Given the description of an element on the screen output the (x, y) to click on. 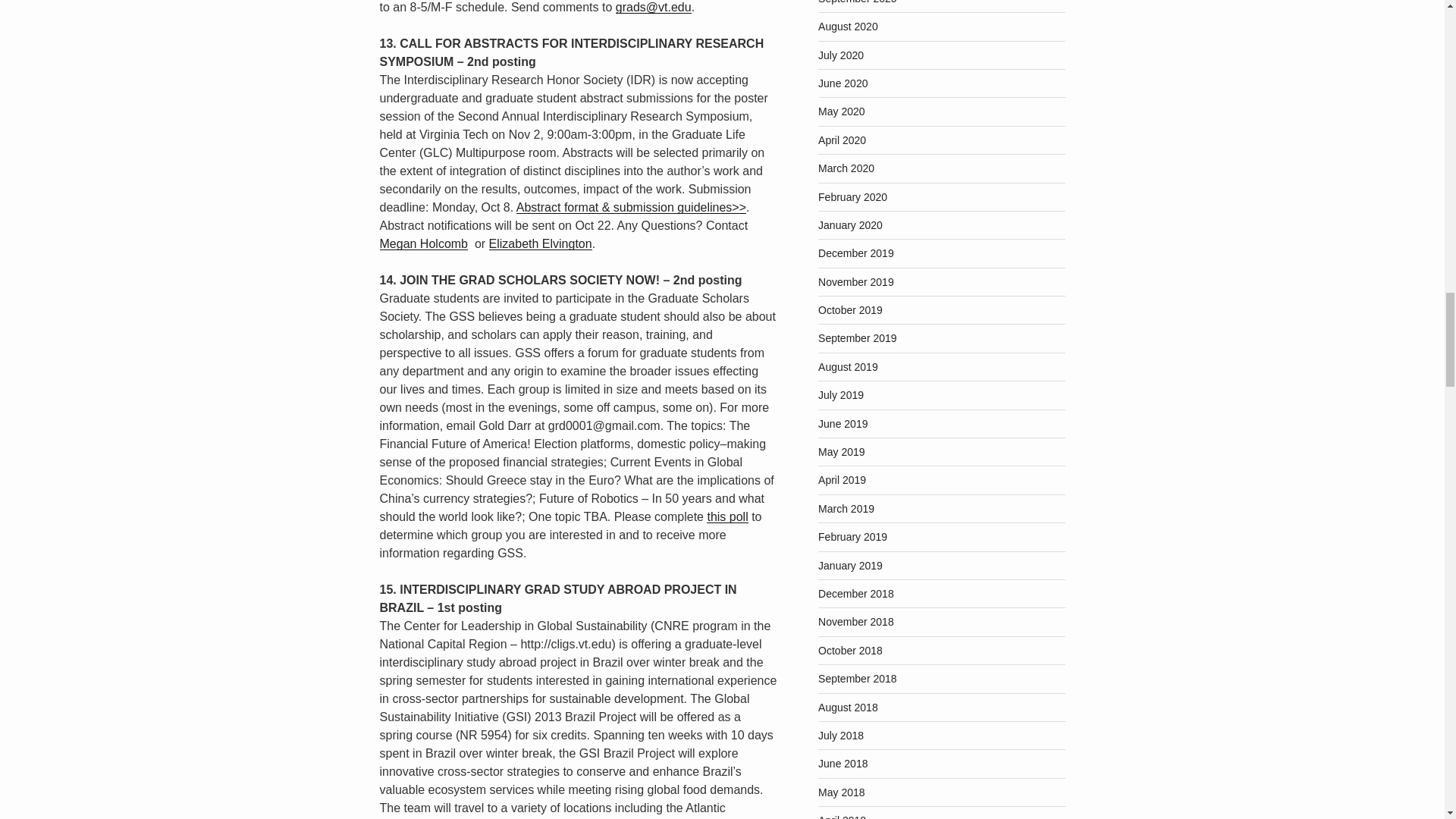
this poll (727, 516)
Megan Holcomb (422, 243)
Elizabeth Elvington (540, 243)
